Given the description of an element on the screen output the (x, y) to click on. 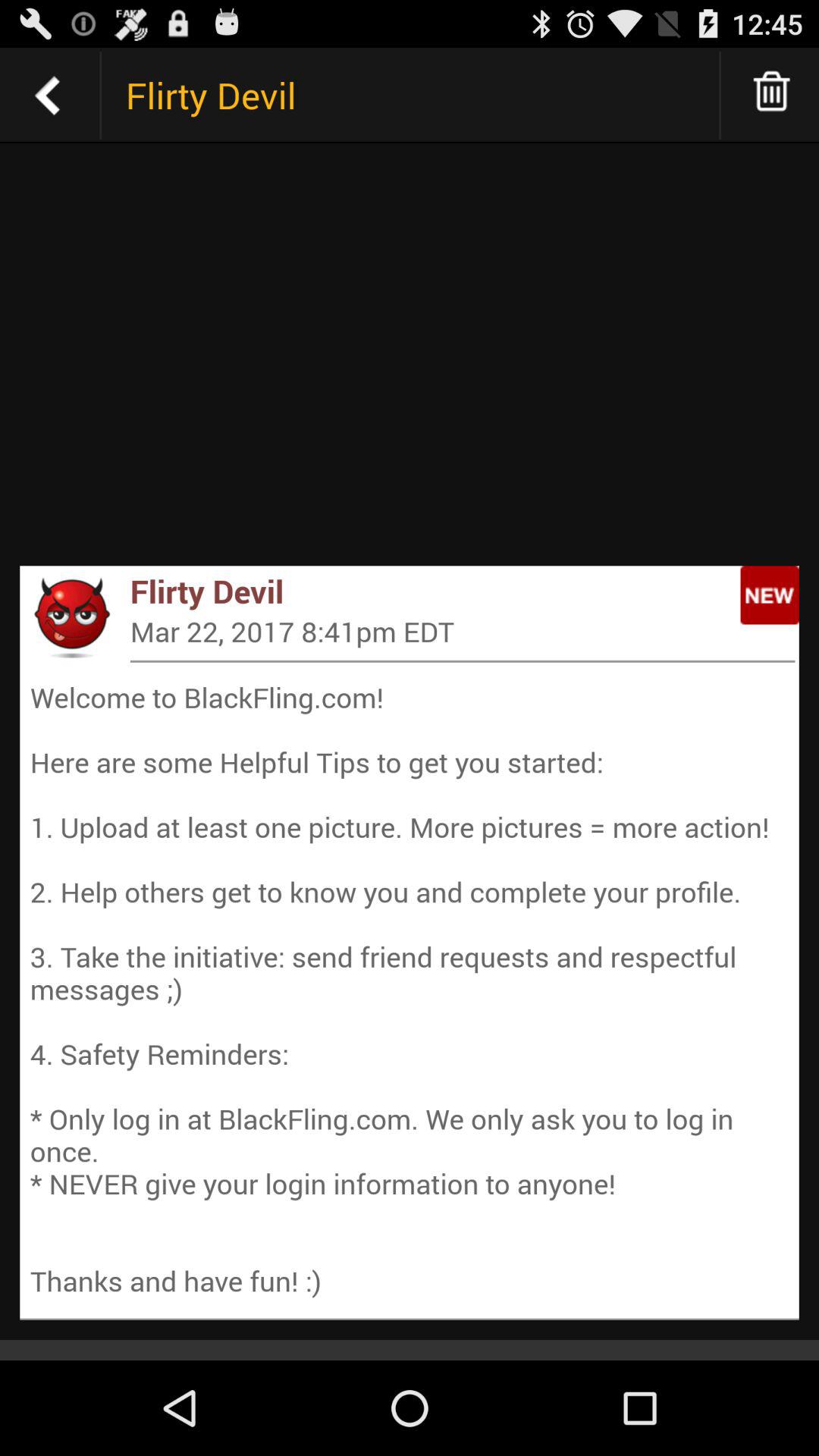
select the icon on the left (71, 617)
